Given the description of an element on the screen output the (x, y) to click on. 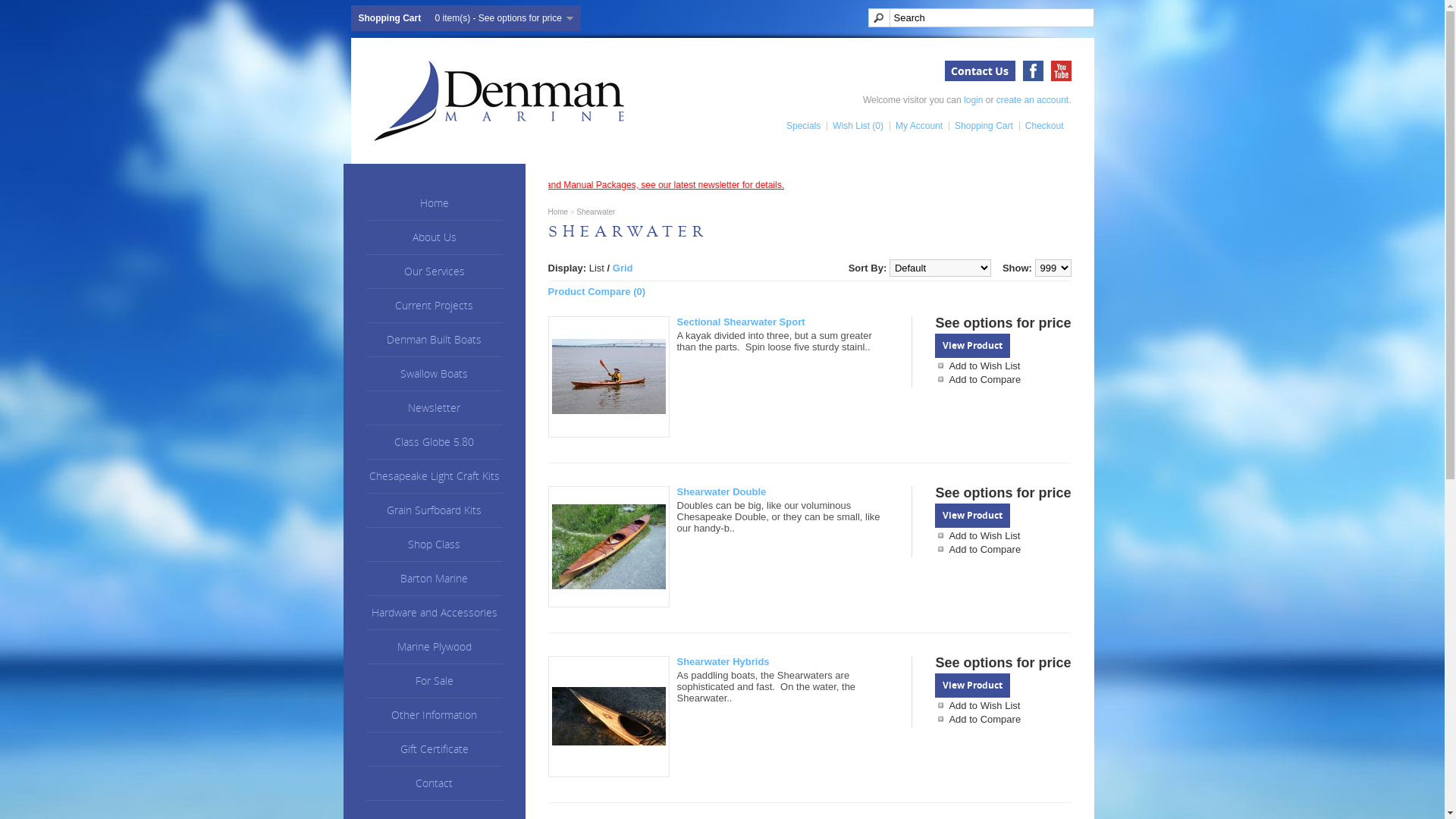
Swallow Boats Element type: text (433, 374)
Denman Marine Element type: hover (498, 100)
Barton Marine Element type: text (433, 578)
Add to Compare Element type: text (1002, 718)
Shopping Cart 0 item(s) - See options for price Element type: text (465, 18)
Newsletter Element type: text (433, 408)
Search Element type: text (980, 17)
Hardware and Accessories Element type: text (433, 613)
Add to Wish List Element type: text (1002, 365)
For Sale Element type: text (433, 681)
login Element type: text (972, 99)
Chesapeake Light Craft Kits Element type: text (433, 476)
Specials Element type: text (800, 125)
Home Element type: text (557, 211)
Class Globe 5.80 Element type: text (433, 442)
Sectional Shearwater Sport Element type: hover (607, 376)
About Us Element type: text (433, 237)
My Account Element type: text (915, 125)
Wish List (0) Element type: text (854, 125)
Current Projects Element type: text (433, 305)
Our Services Element type: text (433, 271)
Checkout Element type: text (1041, 125)
Shearwater Hybrids Element type: text (722, 661)
create an account Element type: text (1032, 99)
Add to Wish List Element type: text (1002, 535)
Shearwater Double Element type: text (720, 491)
View Product Element type: text (972, 685)
Add to Wish List Element type: text (1002, 705)
Contact Element type: text (433, 783)
Other Information Element type: text (433, 715)
Add to Compare Element type: text (1002, 549)
Gift Certificate Element type: text (433, 749)
Denman Built Boats Element type: text (433, 340)
Marine Plywood Element type: text (433, 647)
Grid Element type: text (622, 267)
View Product Element type: text (972, 345)
Sectional Shearwater Sport Element type: text (740, 321)
Home Element type: text (433, 203)
Add to Compare Element type: text (1002, 379)
View Product Element type: text (972, 515)
Shearwater Element type: text (595, 211)
Grain Surfboard Kits Element type: text (433, 510)
Shearwater Double Element type: hover (607, 546)
Shopping Cart Element type: text (980, 125)
Shop Class Element type: text (433, 544)
Product Compare (0) Element type: text (596, 291)
Shearwater Hybrids Element type: hover (607, 716)
